Given the description of an element on the screen output the (x, y) to click on. 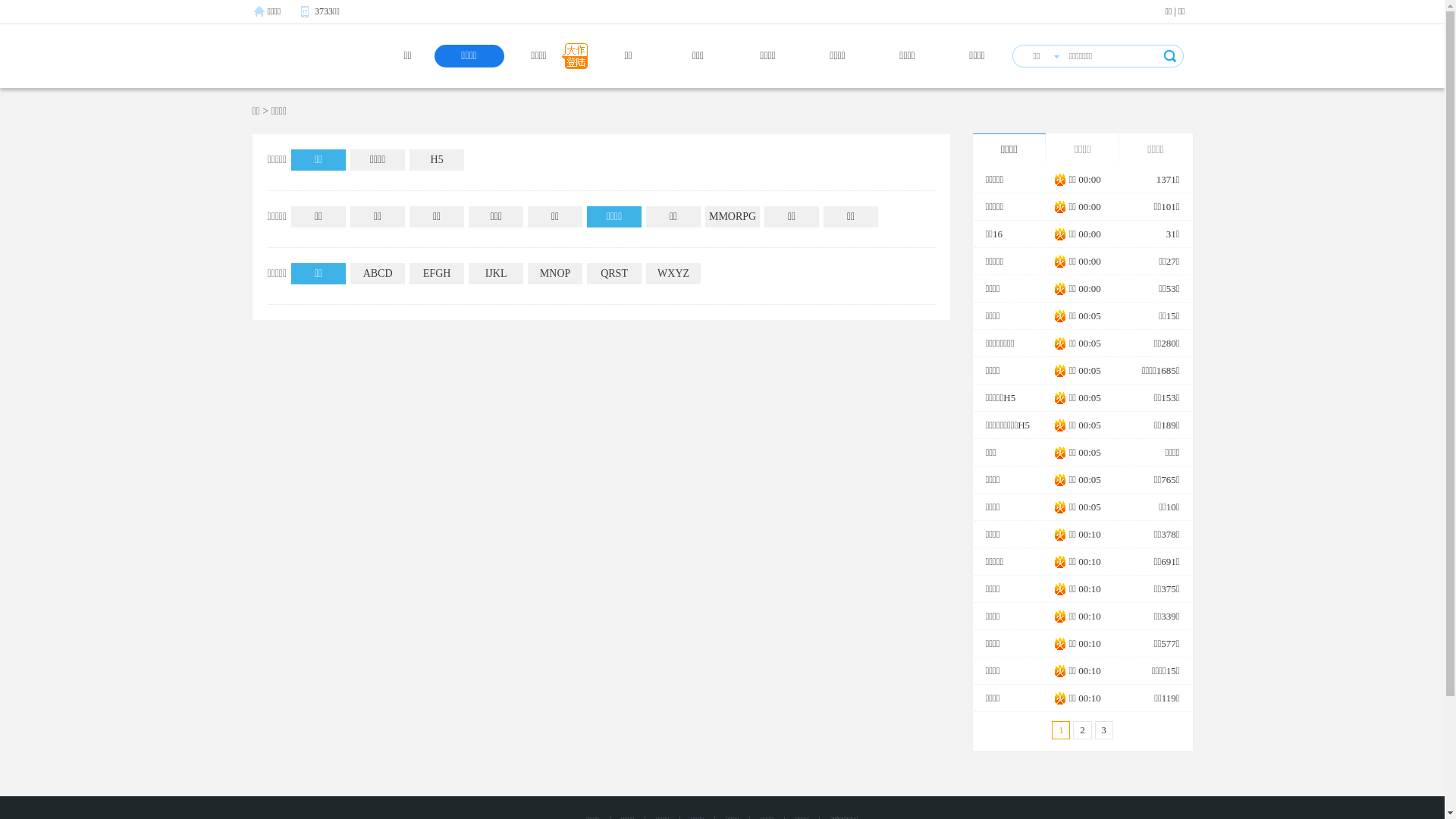
WXYZ Element type: text (673, 273)
MMORPG Element type: text (732, 216)
H5 Element type: text (436, 159)
ABCD Element type: text (377, 273)
QRST Element type: text (613, 273)
EFGH Element type: text (436, 273)
MNOP Element type: text (554, 273)
IJKL Element type: text (495, 273)
